Given the description of an element on the screen output the (x, y) to click on. 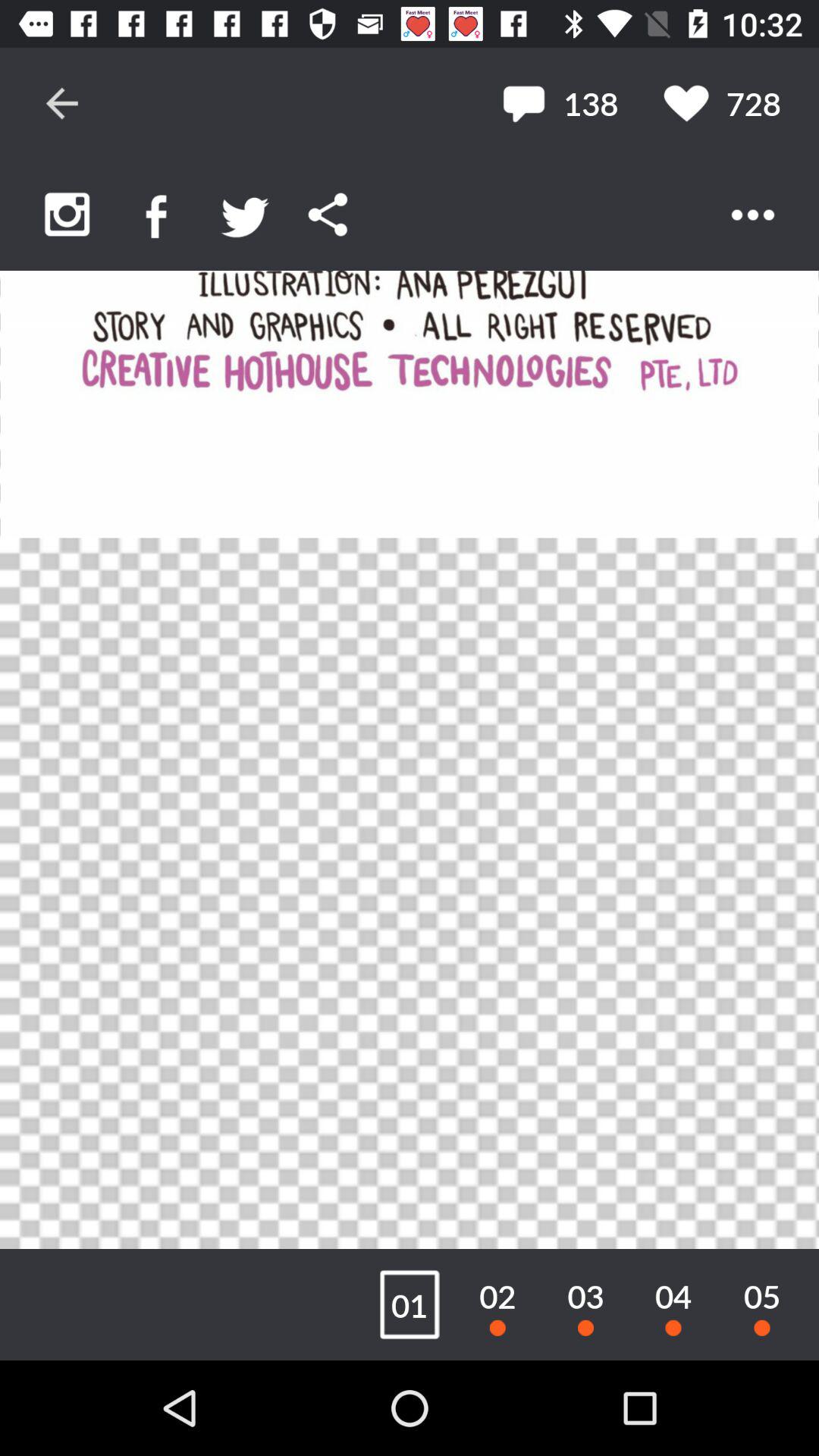
upload pictures (66, 214)
